Given the description of an element on the screen output the (x, y) to click on. 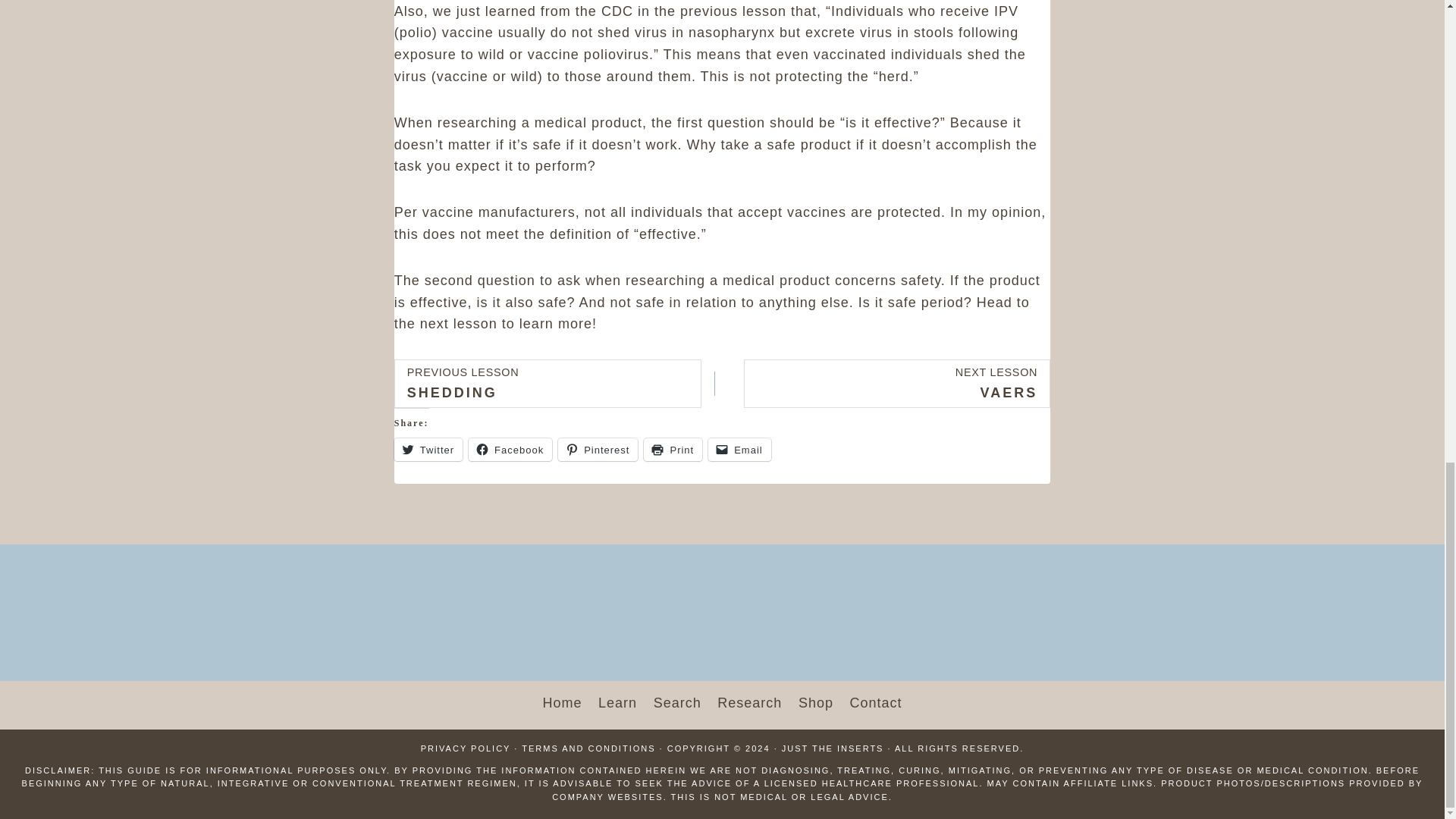
Learn (617, 703)
TERMS AND CONDITIONS (588, 747)
Contact (876, 703)
Print (672, 449)
Home (562, 703)
Twitter (428, 449)
PRIVACY POLICY (547, 383)
Research (465, 747)
Email (749, 703)
